Given the description of an element on the screen output the (x, y) to click on. 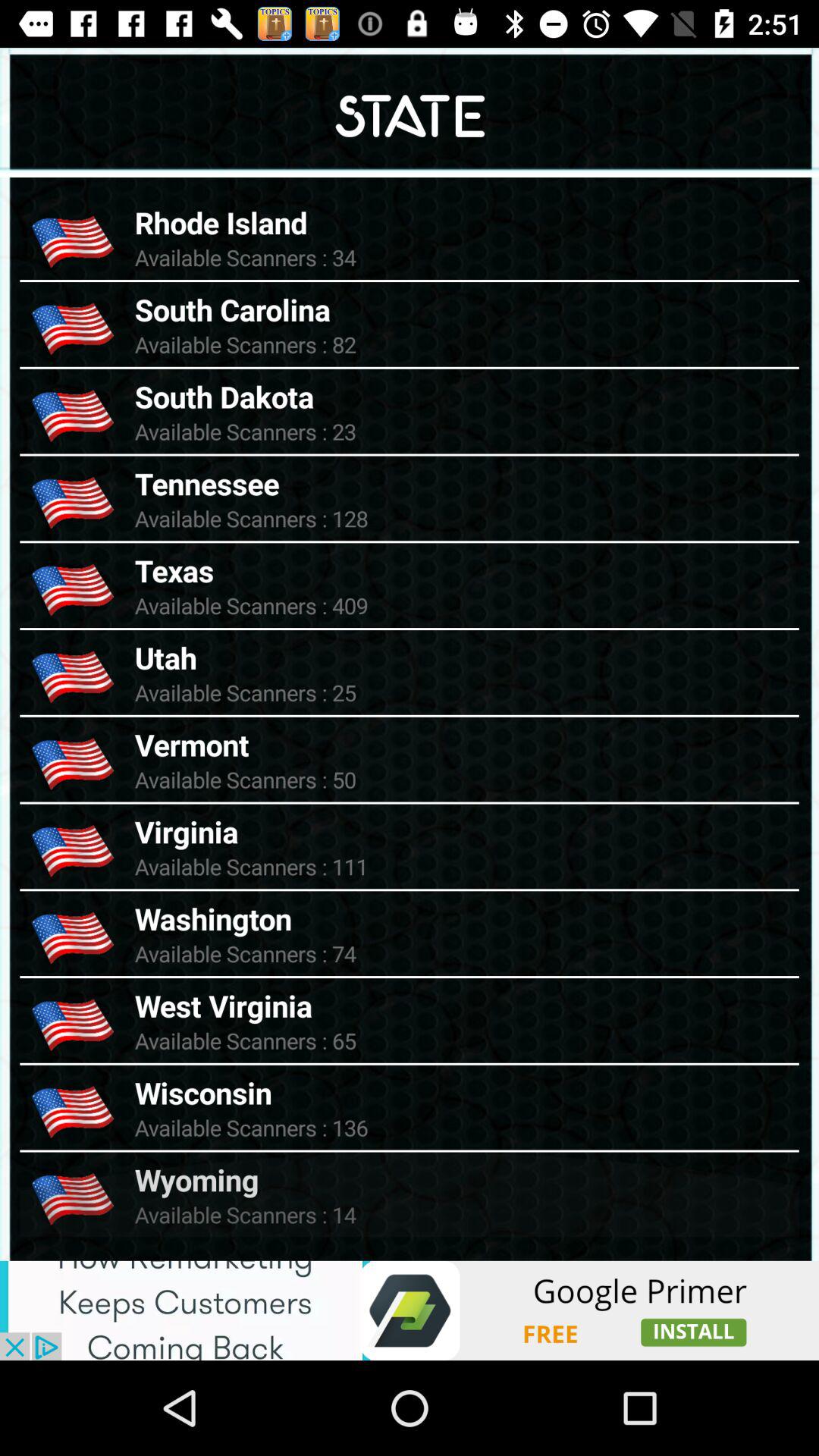
advertisement (409, 1310)
